Given the description of an element on the screen output the (x, y) to click on. 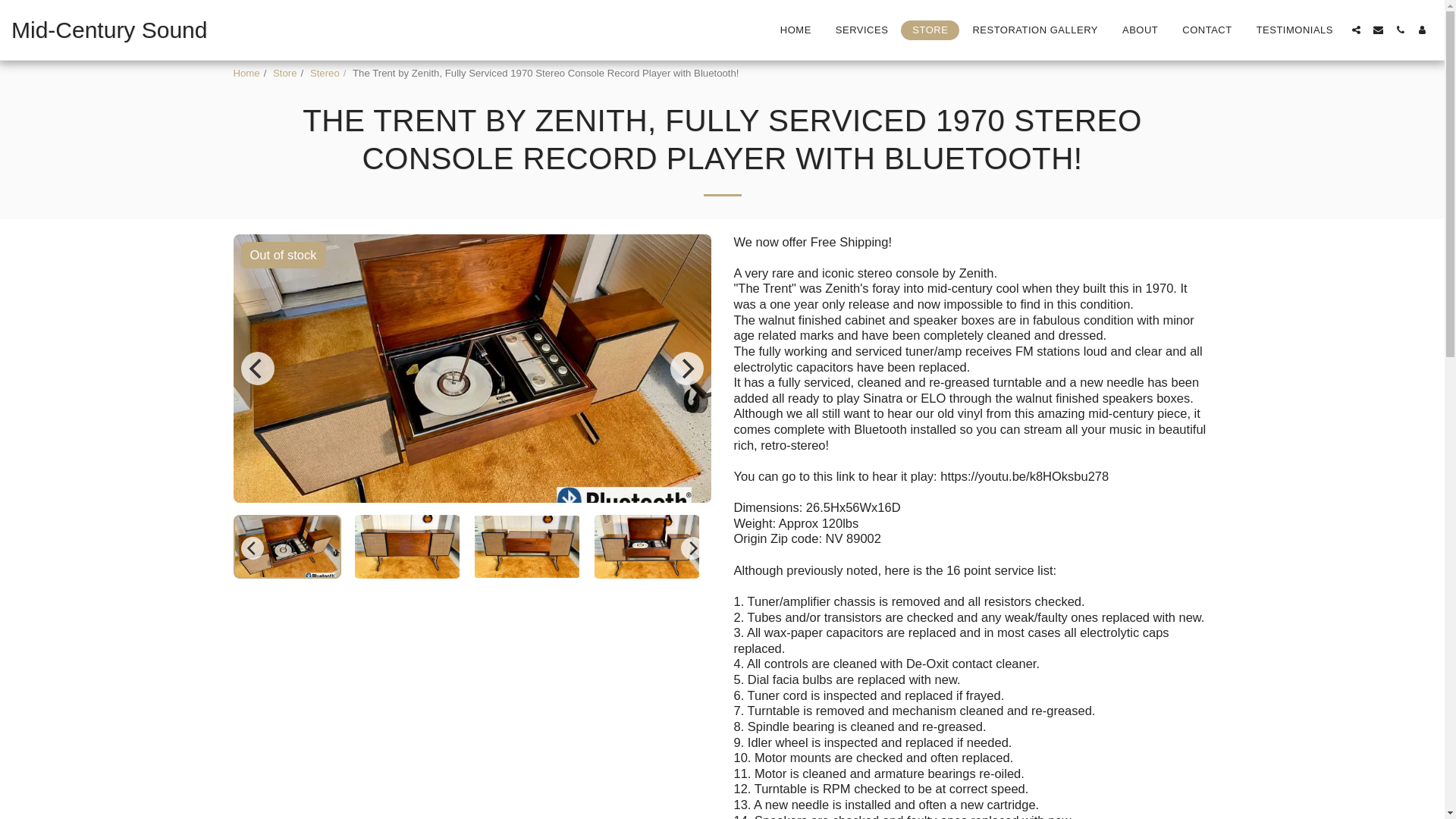
Stereo (324, 72)
HOME (795, 29)
RESTORATION GALLERY (1034, 29)
CONTACT (1206, 29)
TESTIMONIALS (1293, 29)
SERVICES (861, 29)
